Given the description of an element on the screen output the (x, y) to click on. 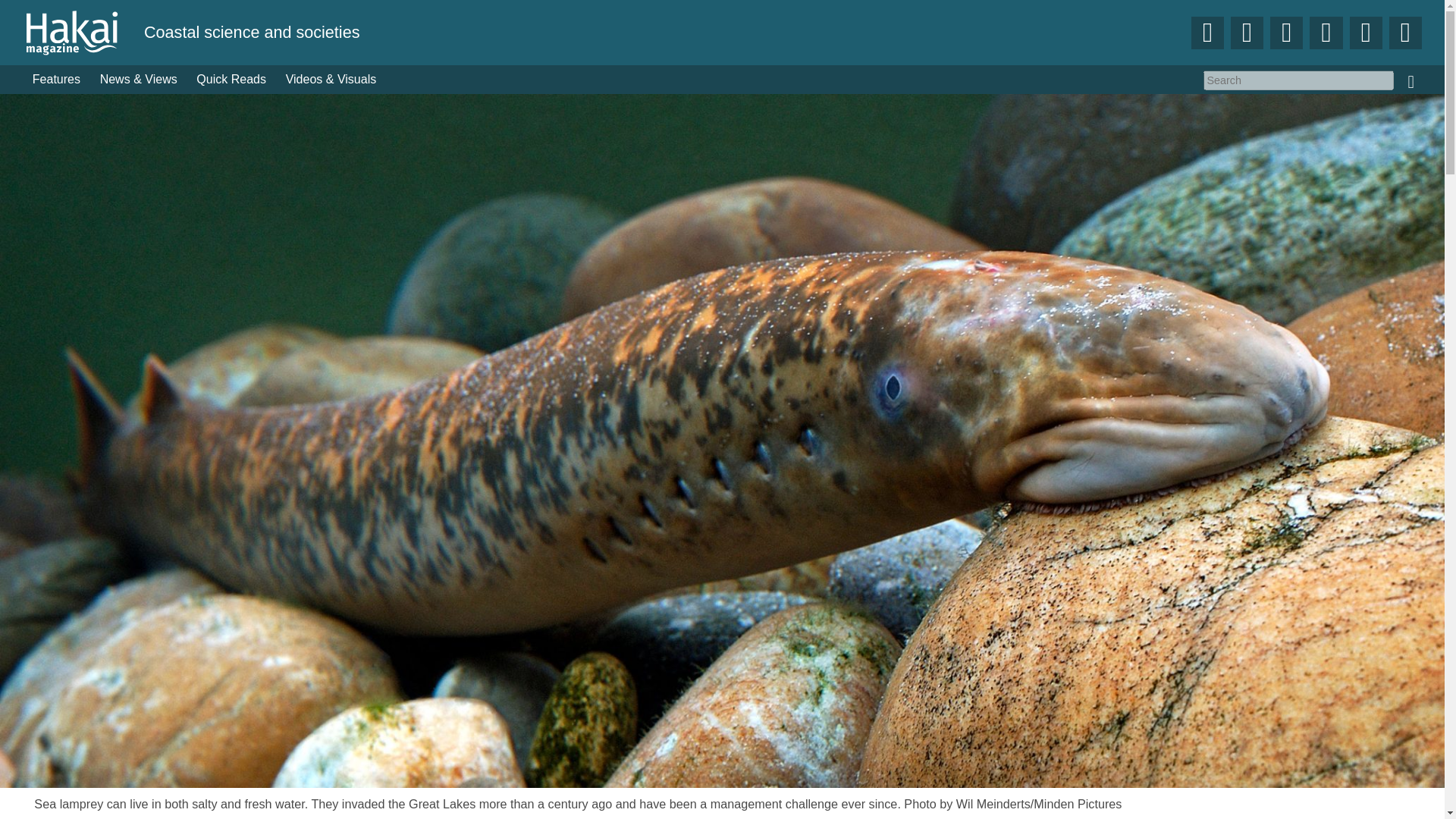
Search for: (1298, 80)
Quick Reads (231, 79)
Hakai Magazine (83, 32)
Features (56, 79)
